Given the description of an element on the screen output the (x, y) to click on. 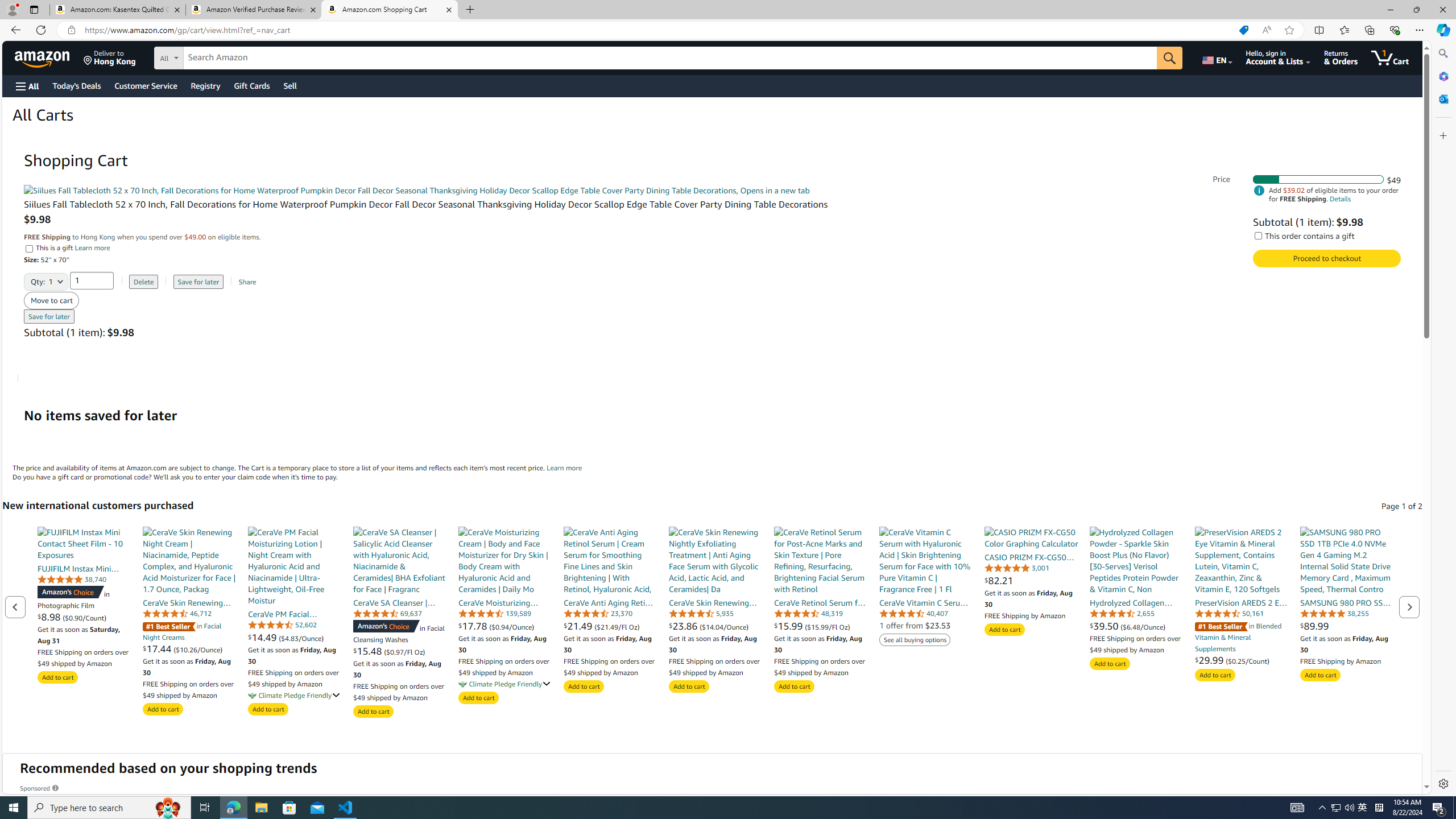
FUJIFILM Instax Mini Contact Sheet Film - 10 Exposures (84, 543)
Open Menu (26, 86)
CASIO PRIZM FX-CG50 Color Graphing Calculator (1031, 537)
$29.99  (1210, 659)
Today's Deals (76, 85)
